Given the description of an element on the screen output the (x, y) to click on. 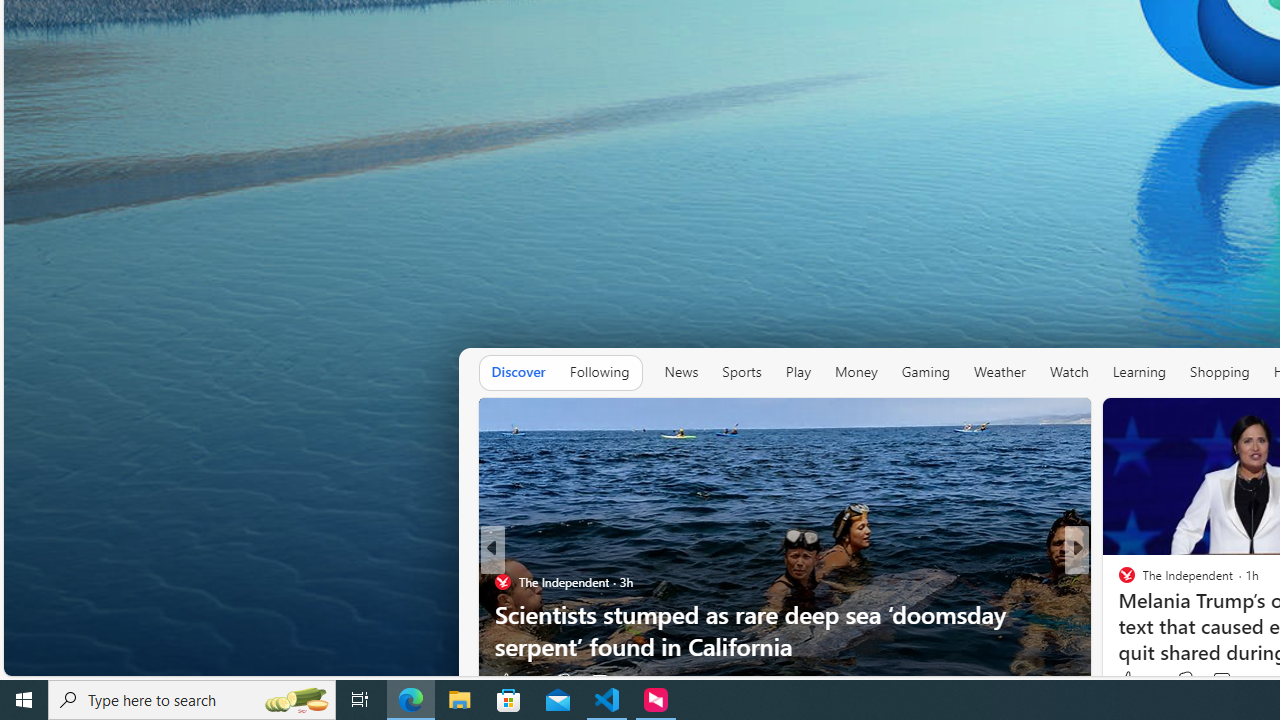
View comments 27 Comment (599, 681)
Stacker (1117, 581)
View comments 31 Comment (1223, 681)
View comments 58 Comment (1215, 681)
450 Like (1132, 681)
Shopping (1219, 372)
View comments 8 Comment (1220, 681)
View comments 237 Comment (1215, 681)
